Given the description of an element on the screen output the (x, y) to click on. 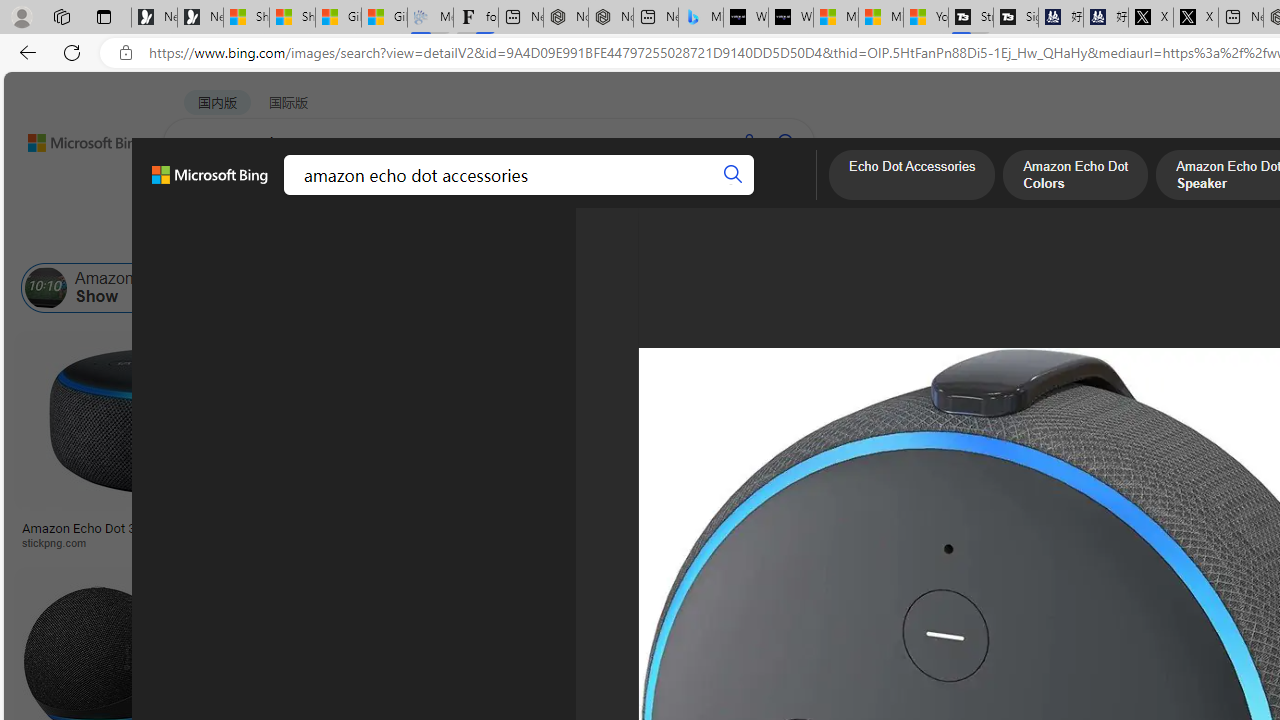
VIDEOS (458, 195)
ACADEMIC (548, 195)
Smart Speaker Alexa Echo Dot (995, 521)
Search button (732, 174)
stickpng.herokuapp.com (614, 542)
Echo Dot Accessories (456, 287)
MORE (779, 195)
Amazon Echo Dot with Clock (864, 287)
License (665, 237)
